Given the description of an element on the screen output the (x, y) to click on. 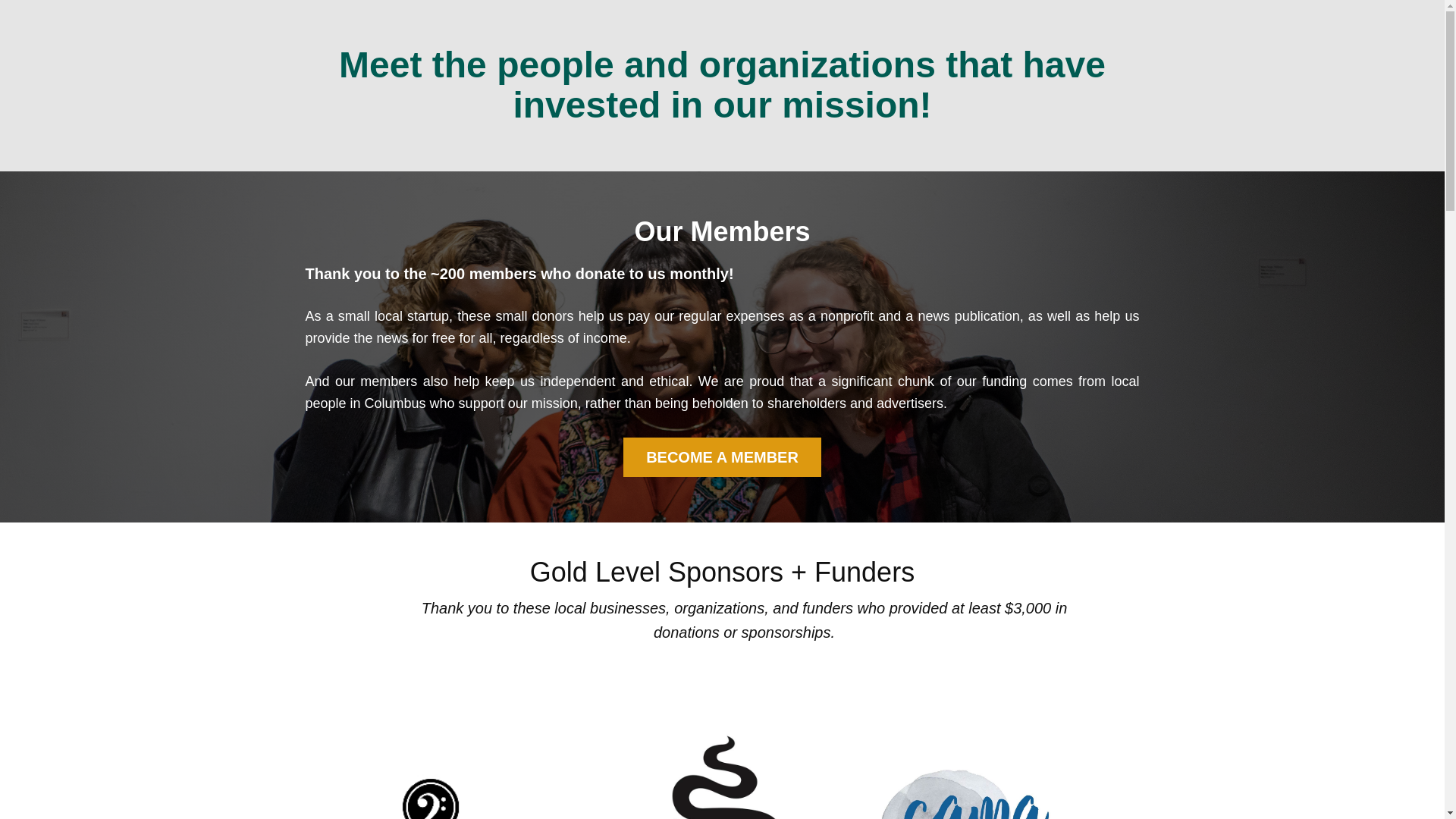
BECOME A MEMBER (722, 456)
